Given the description of an element on the screen output the (x, y) to click on. 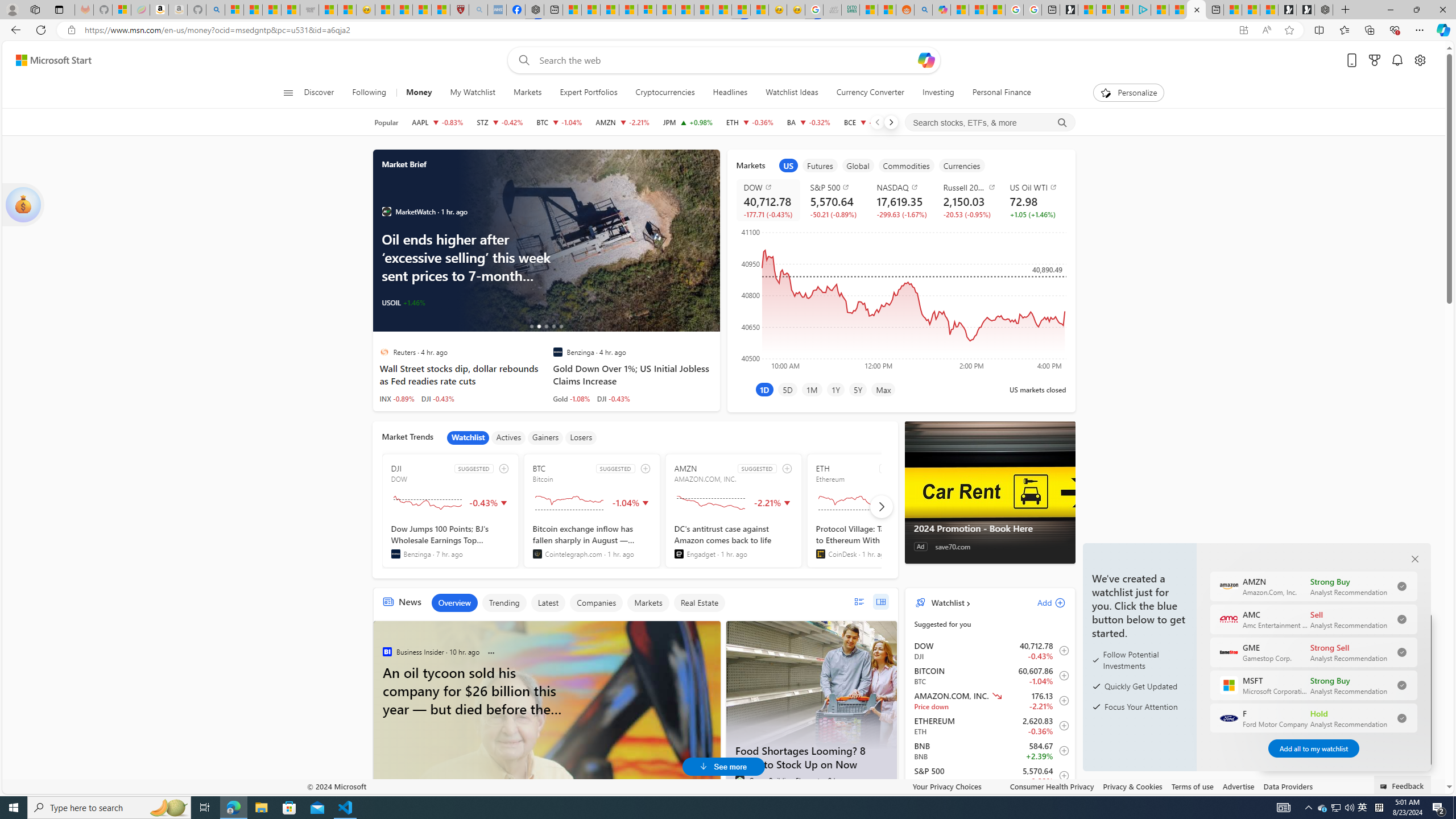
Investing (937, 92)
DOW (770, 187)
Microsoft Start Gaming (1069, 9)
Privacy & Cookies (1131, 786)
Microsoft-Report a Concern to Bing (121, 9)
Class: feedback_link_icon-DS-EntryPoint1-1 (1384, 786)
Class: button-glyph (287, 92)
DJI DOW decrease 40,712.78 -177.71 -0.43% item0 (989, 650)
item3 (857, 164)
CoinDesk (820, 553)
